Given the description of an element on the screen output the (x, y) to click on. 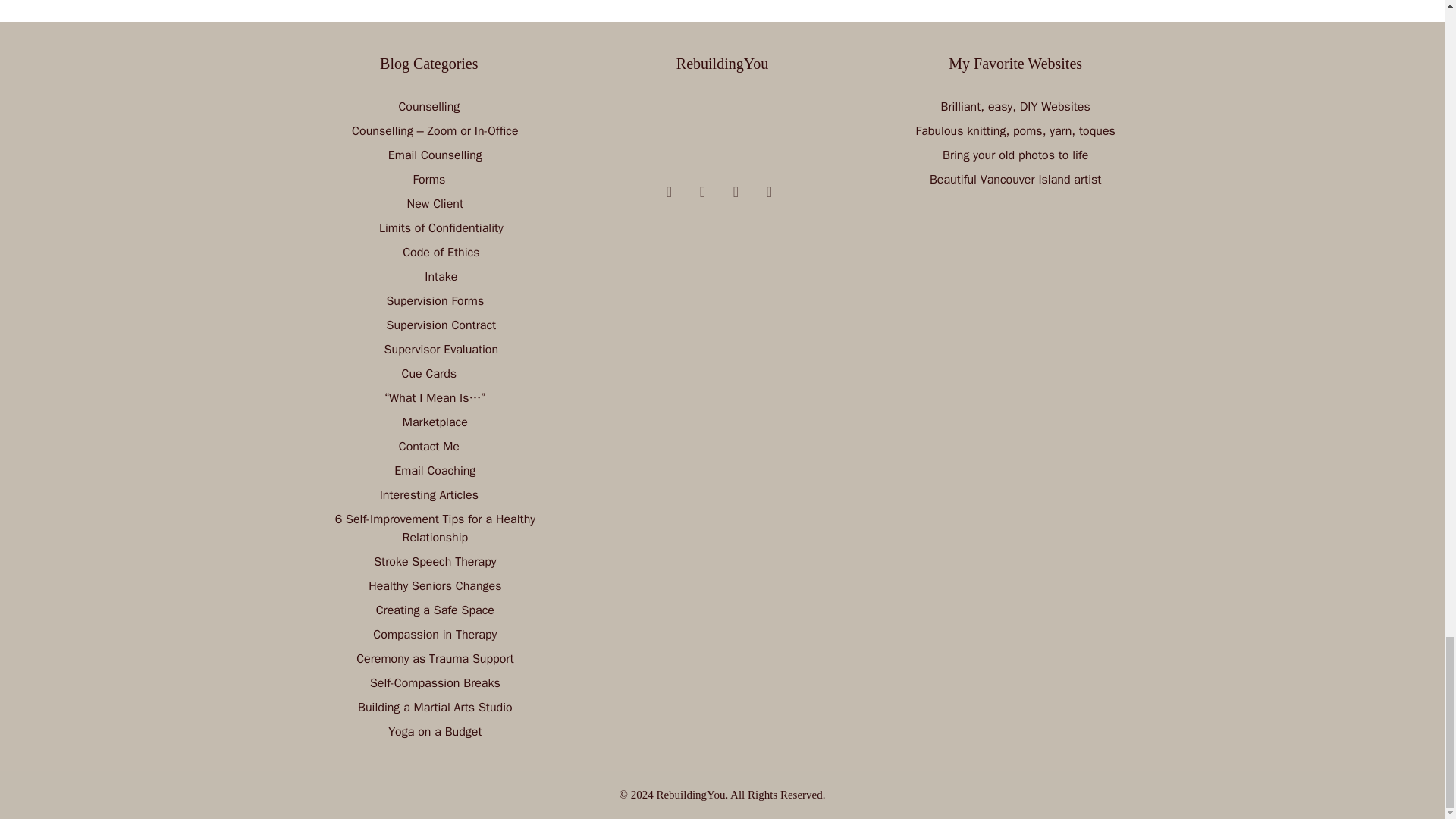
LinkedIn (768, 191)
RSS (702, 191)
YouTube (668, 191)
Twitter (735, 191)
